Given the description of an element on the screen output the (x, y) to click on. 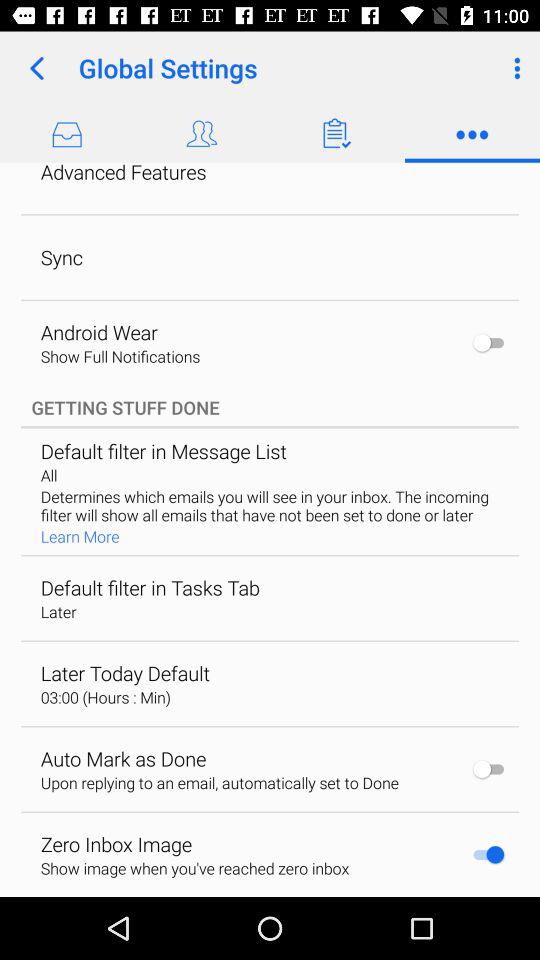
press item below the zero inbox image (194, 867)
